Given the description of an element on the screen output the (x, y) to click on. 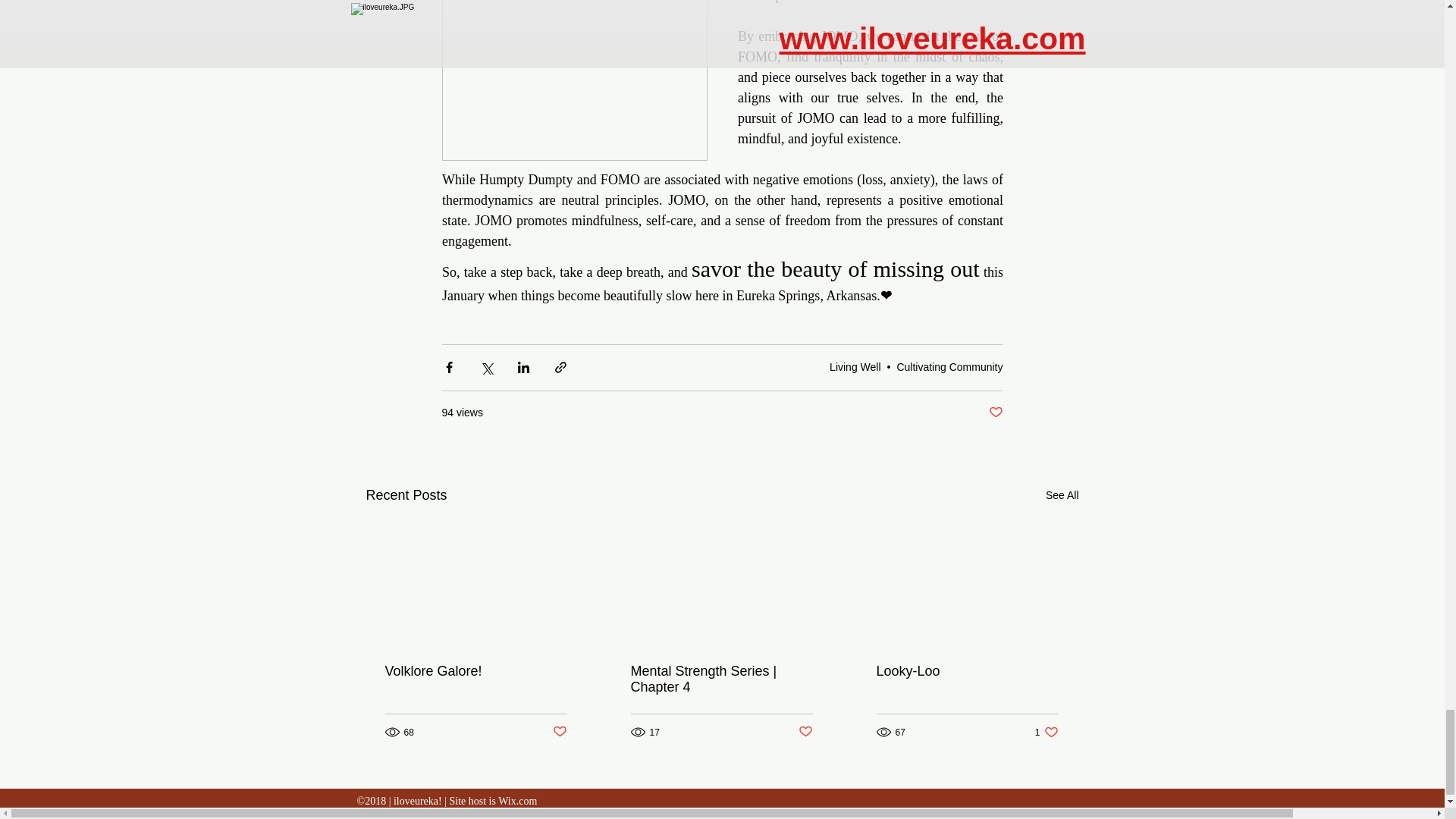
Volklore Galore! (476, 671)
Post not marked as liked (804, 731)
Living Well (854, 367)
Post not marked as liked (558, 731)
Post not marked as liked (995, 412)
See All (1046, 731)
Cultivating Community (1061, 495)
Looky-Loo (949, 367)
